Given the description of an element on the screen output the (x, y) to click on. 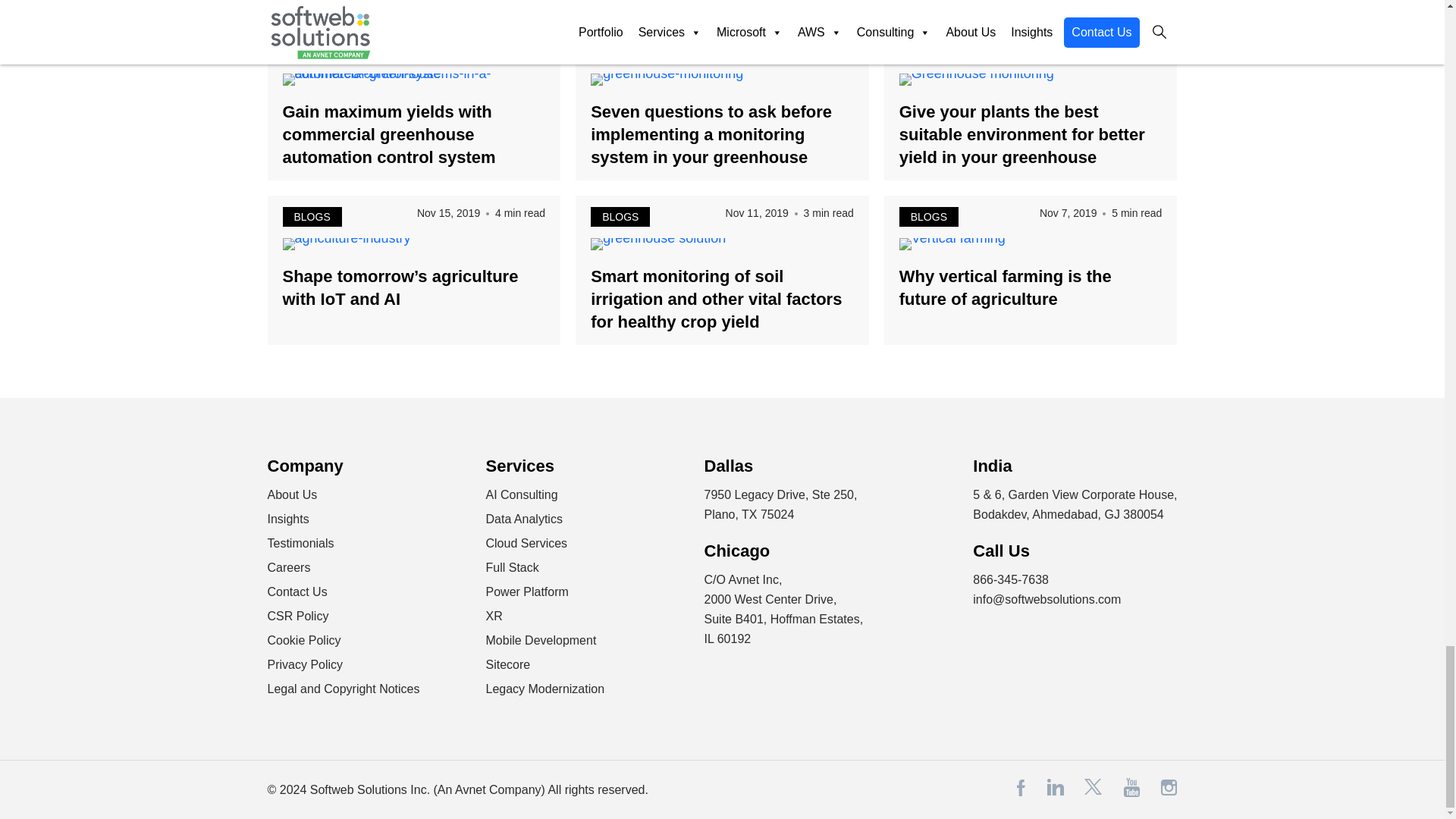
Privacy Policy (304, 664)
Testimonials (299, 543)
About Us (291, 494)
Data Analytics (523, 518)
Legal and Copyright Notices (342, 688)
AI Consulting (520, 494)
Cookie Policy (303, 640)
Cloud Services (525, 543)
Full Stack (511, 567)
Contact Us (296, 591)
